Given the description of an element on the screen output the (x, y) to click on. 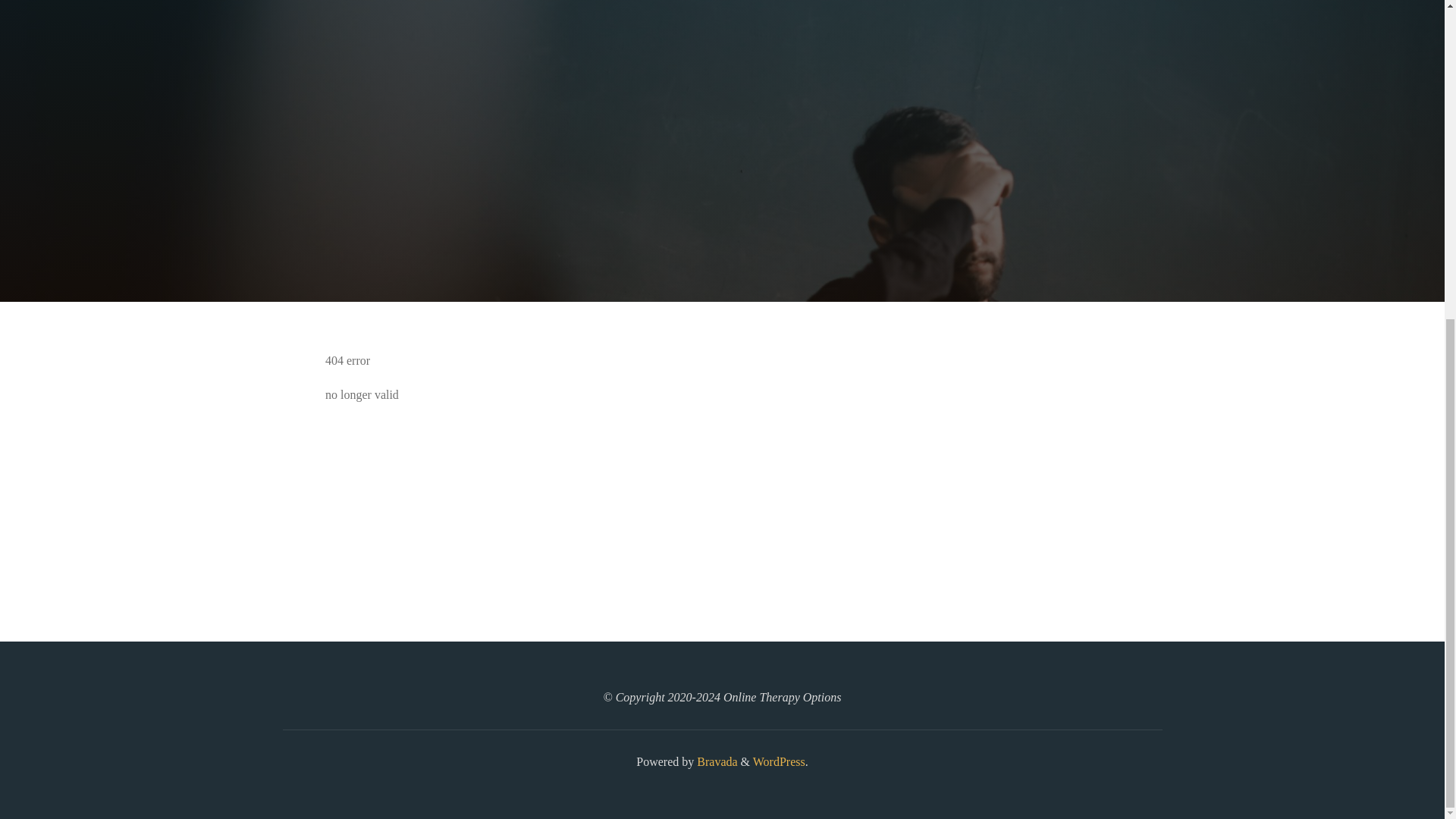
Semantic Personal Publishing Platform (778, 761)
Read more (721, 207)
Bravada (715, 761)
Bravada WordPress Theme by Cryout Creations (715, 761)
WordPress (778, 761)
